Given the description of an element on the screen output the (x, y) to click on. 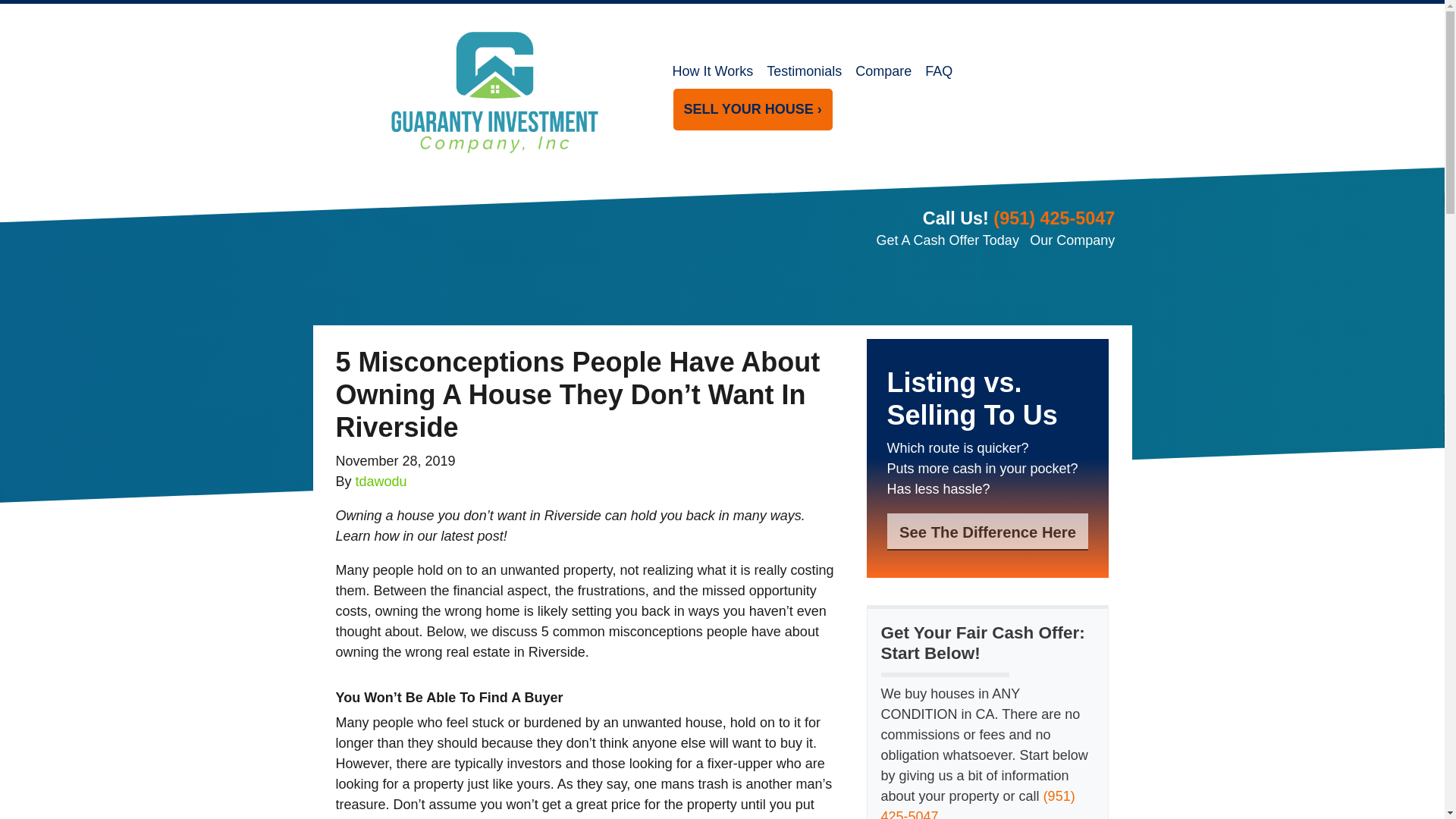
tdawodu (381, 481)
Compare (883, 71)
How It Works (712, 71)
Our Company (1072, 240)
FAQ (938, 71)
Get A Cash Offer Today (946, 240)
FAQ (938, 71)
See The Difference Here (987, 531)
Testimonials (804, 71)
Testimonials (804, 71)
Compare (883, 71)
How It Works (712, 71)
